Given the description of an element on the screen output the (x, y) to click on. 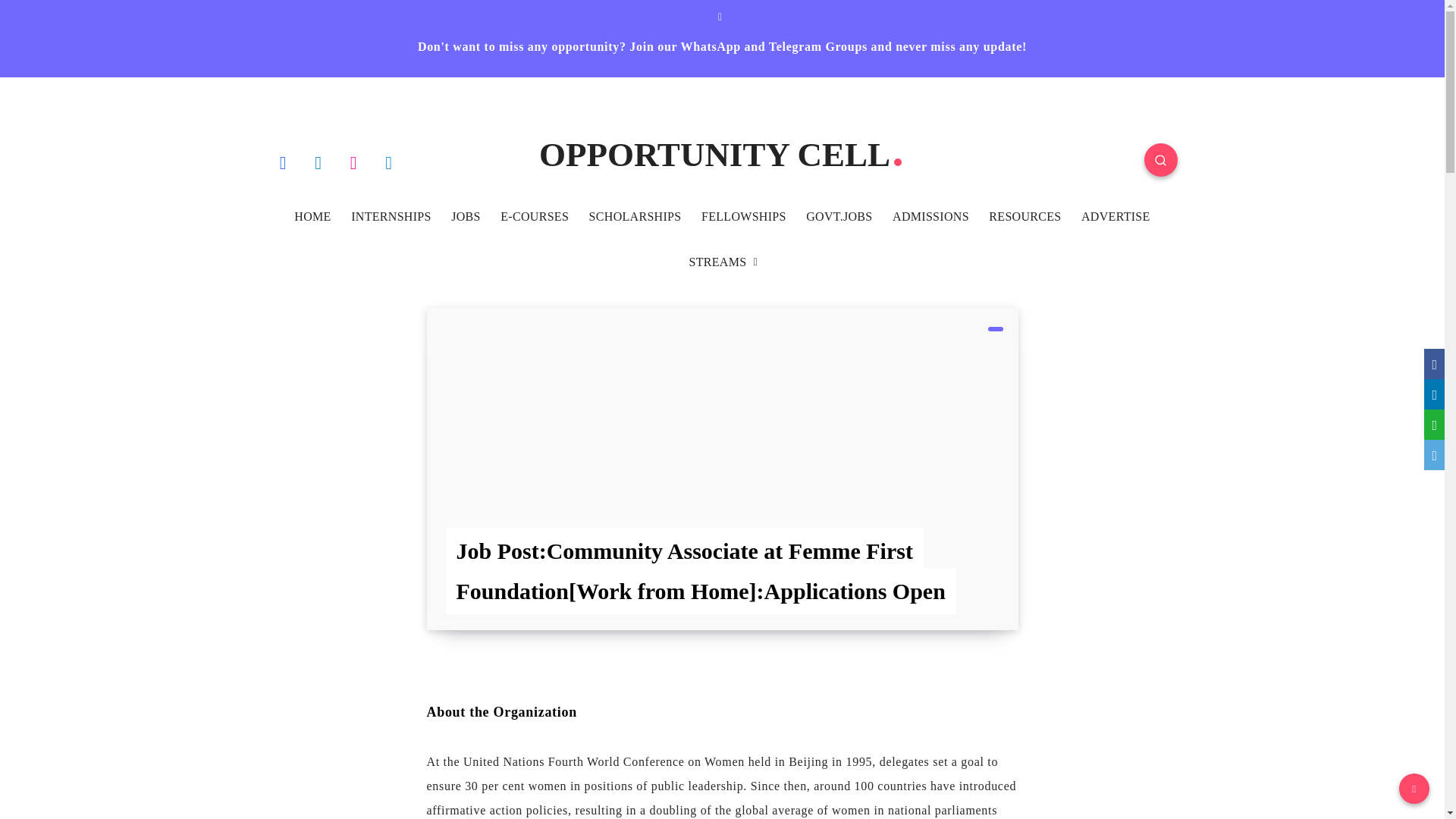
STREAMS (717, 262)
HOME (312, 216)
SCHOLARSHIPS (635, 216)
ADMISSIONS (930, 216)
ADVERTISE (1115, 216)
E-COURSES (534, 216)
OPPORTUNITY CELL (721, 154)
Don't want to miss any opportunity? (522, 46)
RESOURCES (1024, 216)
GOVT.JOBS (839, 216)
FELLOWSHIPS (743, 216)
INTERNSHIPS (390, 216)
JOBS (465, 216)
